Given the description of an element on the screen output the (x, y) to click on. 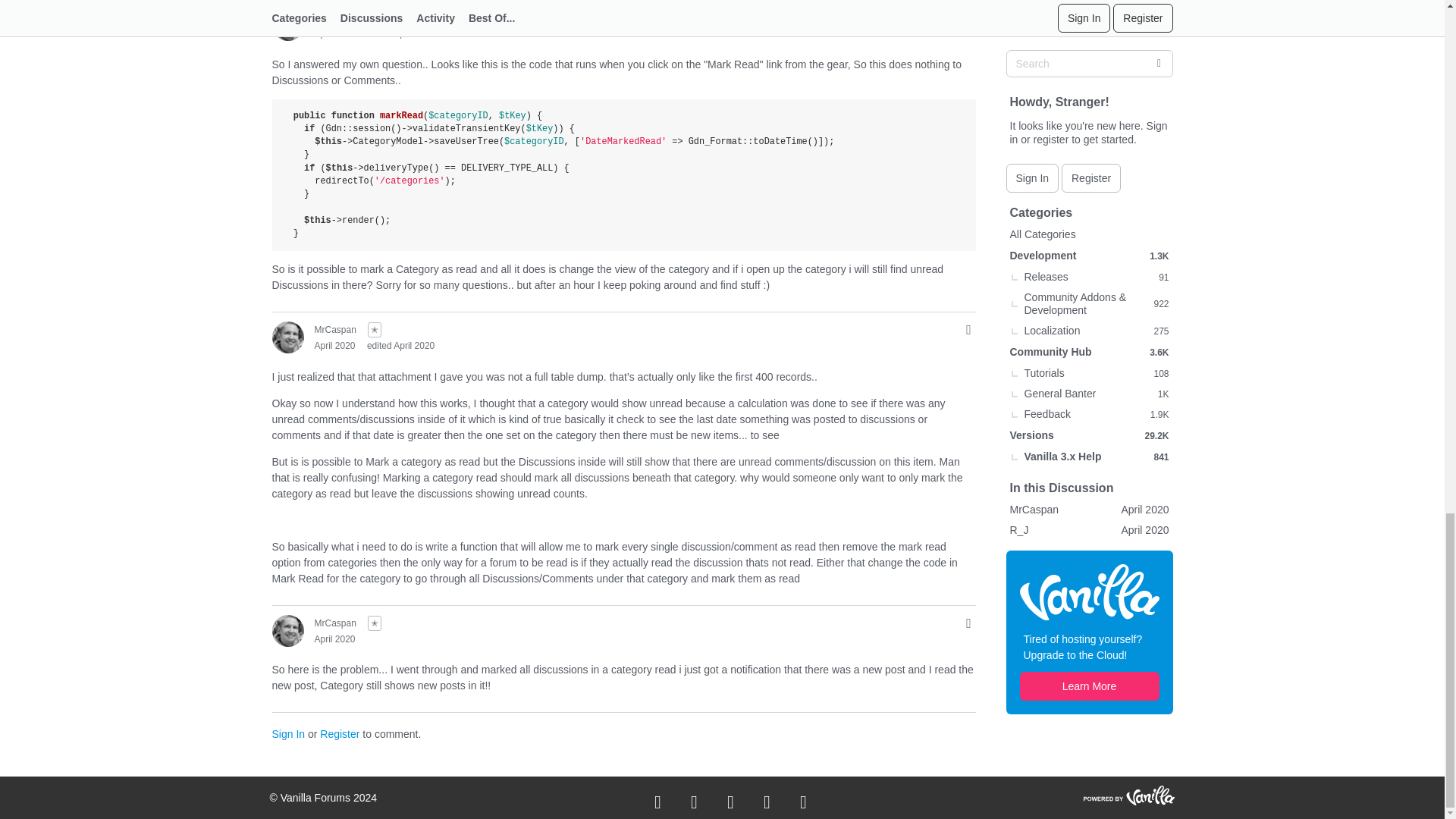
Powered By Vanilla (1128, 795)
